Given the description of an element on the screen output the (x, y) to click on. 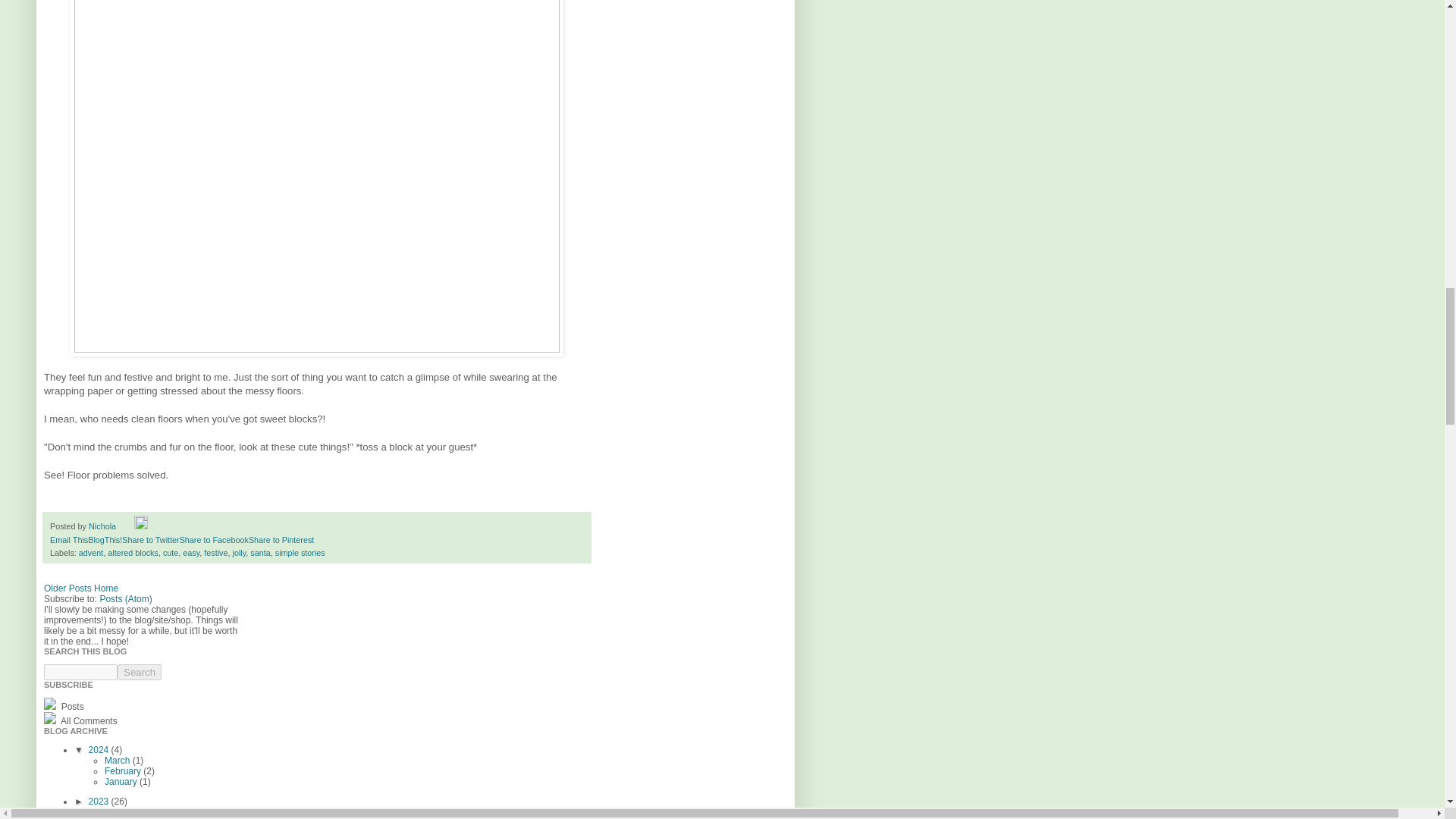
cute (170, 552)
Share to Facebook (213, 539)
Share to Twitter (150, 539)
BlogThis! (104, 539)
Share to Pinterest (281, 539)
jolly (239, 552)
BlogThis! (104, 539)
Share to Twitter (150, 539)
simple stories (299, 552)
Search (139, 672)
advent (90, 552)
January (121, 781)
March (118, 760)
Email Post (125, 525)
Search (139, 672)
